Given the description of an element on the screen output the (x, y) to click on. 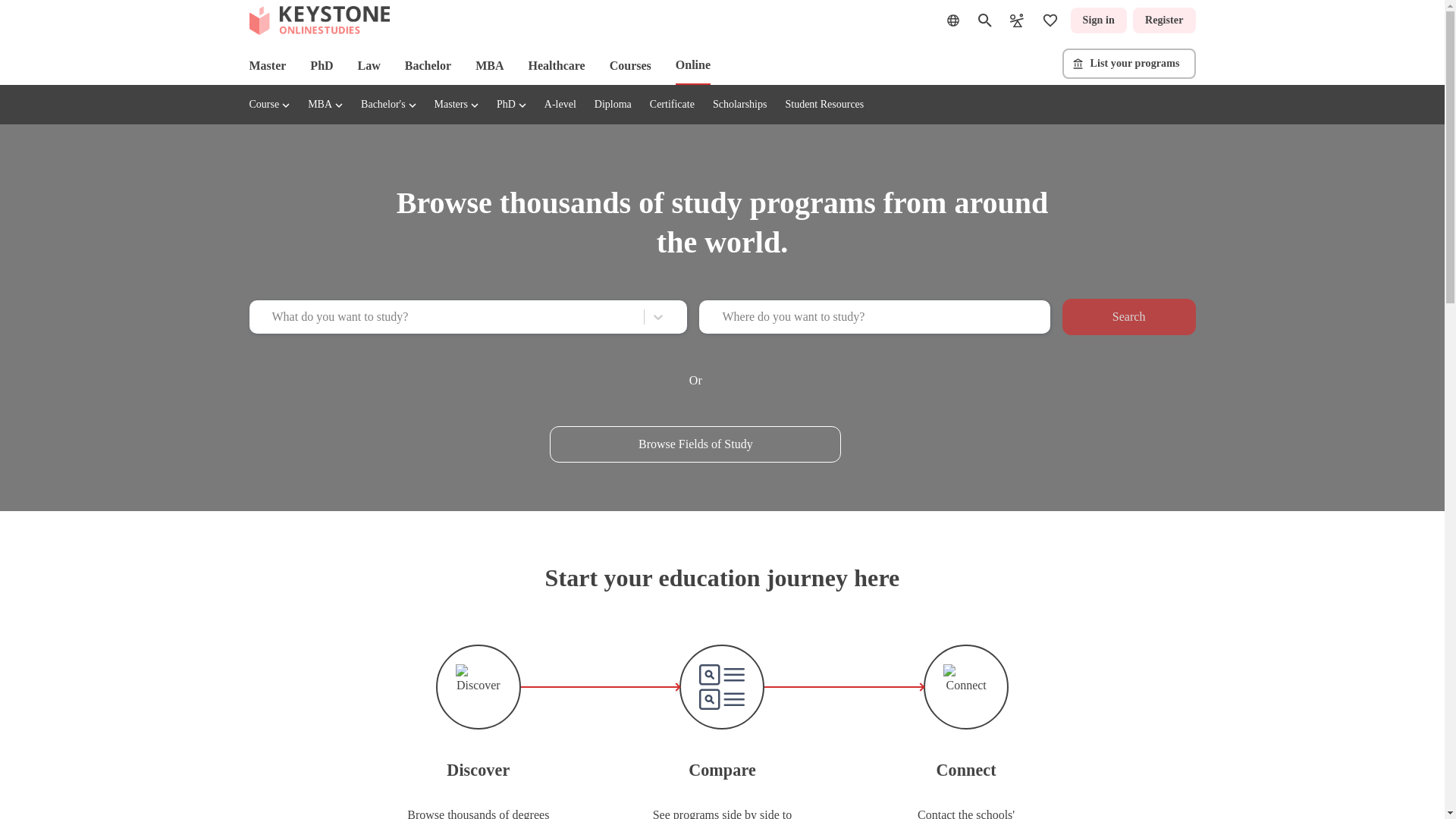
Browse Fields of Study (695, 443)
Online (692, 65)
Diploma (612, 103)
Register (1163, 20)
List your programs (1128, 63)
A-level (560, 103)
Master (266, 65)
Sign in (1098, 20)
Scholarships (740, 103)
